Given the description of an element on the screen output the (x, y) to click on. 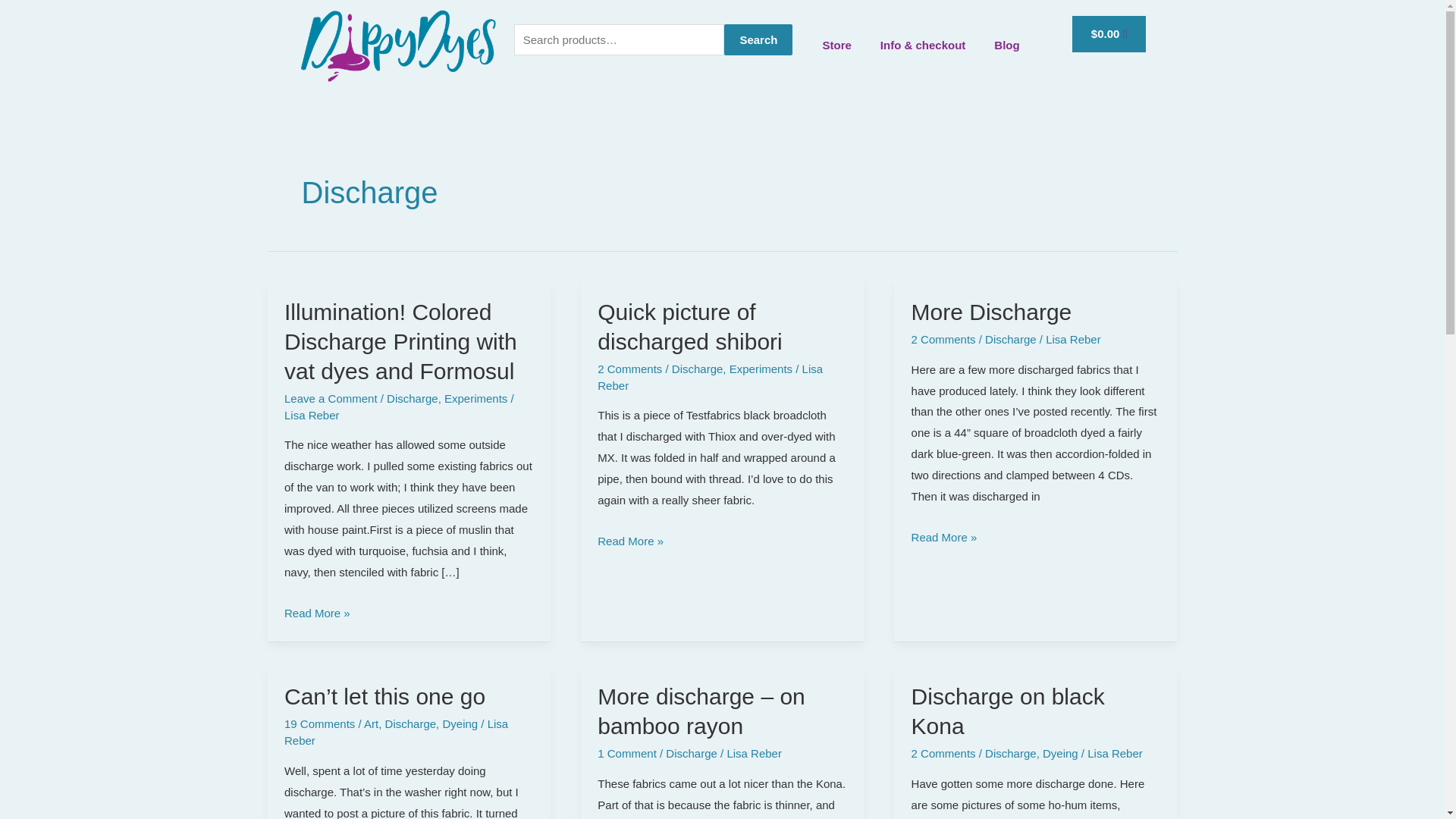
View all posts by Lisa Reber (311, 414)
View all posts by Lisa Reber (753, 753)
Search (757, 40)
View all posts by Lisa Reber (395, 731)
View all posts by Lisa Reber (709, 377)
Store (836, 45)
View all posts by Lisa Reber (1114, 753)
View all posts by Lisa Reber (1072, 338)
